Given the description of an element on the screen output the (x, y) to click on. 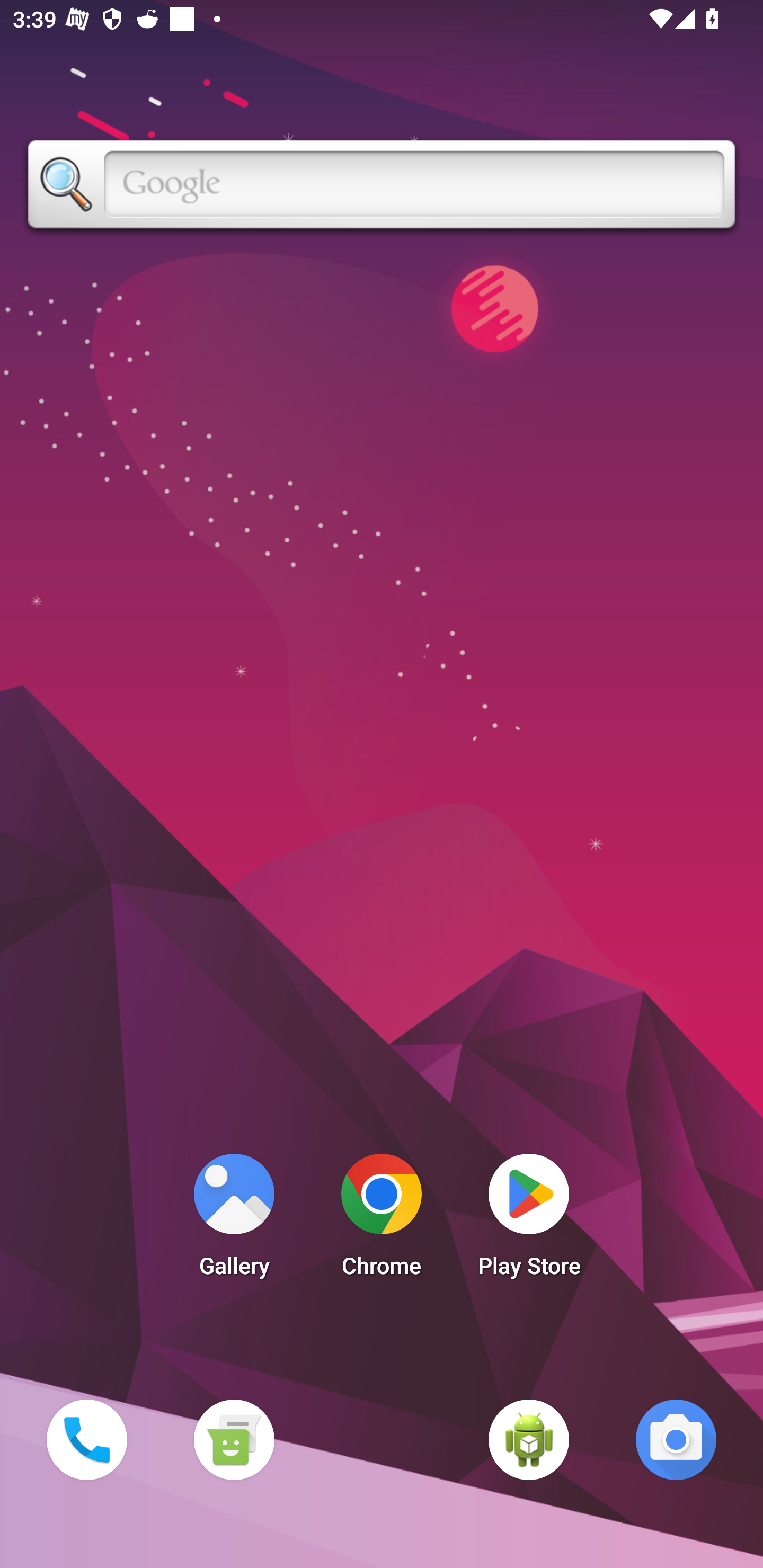
Gallery (233, 1220)
Chrome (381, 1220)
Play Store (528, 1220)
Phone (86, 1439)
Messaging (233, 1439)
WebView Browser Tester (528, 1439)
Camera (676, 1439)
